Given the description of an element on the screen output the (x, y) to click on. 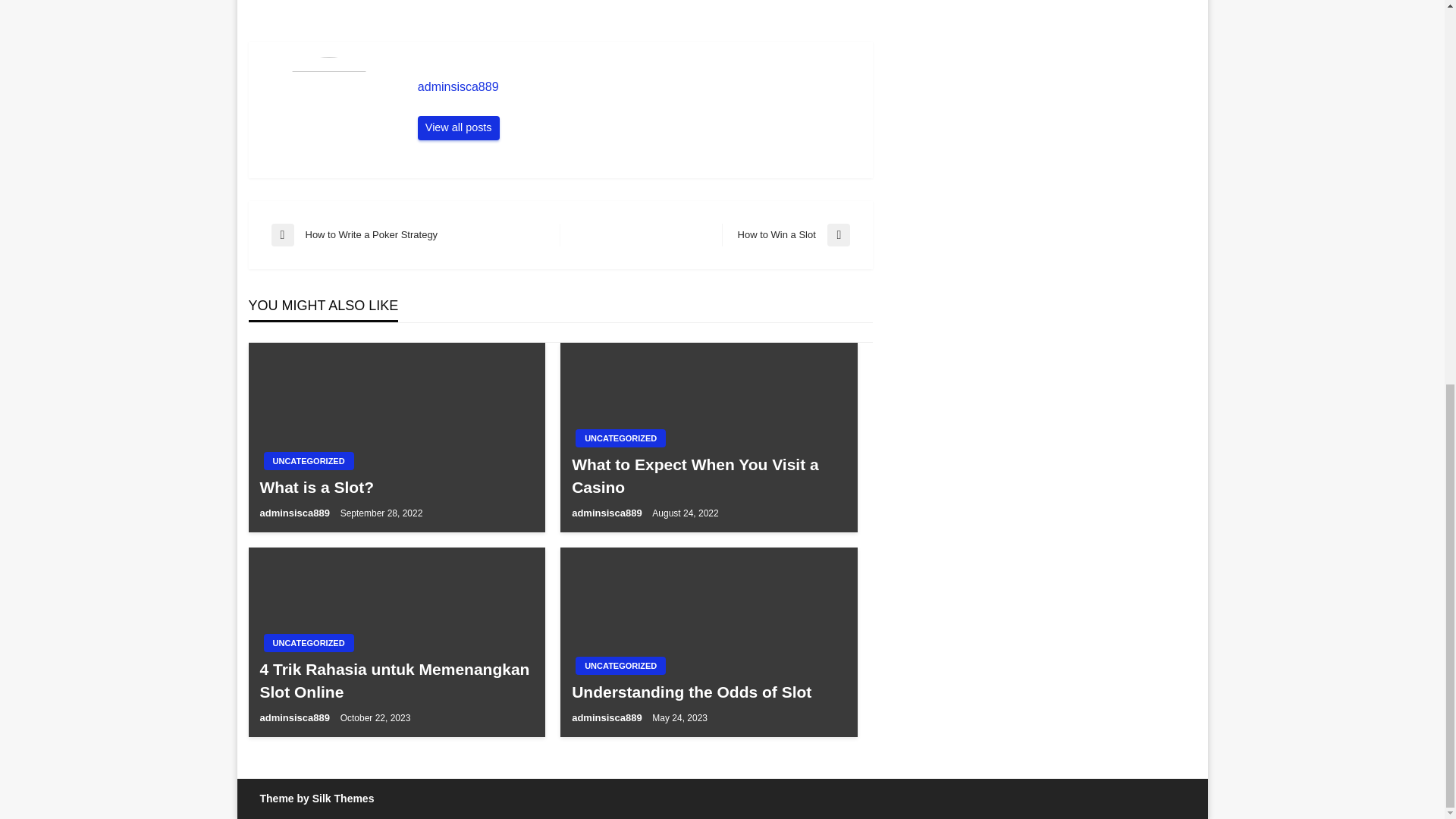
UNCATEGORIZED (308, 461)
adminsisca889 (608, 512)
UNCATEGORIZED (786, 234)
adminsisca889 (620, 665)
Understanding the Odds of Slot (608, 717)
adminsisca889 (708, 691)
UNCATEGORIZED (637, 87)
adminsisca889 (308, 642)
4 Trik Rahasia untuk Memenangkan Slot Online (458, 128)
